Given the description of an element on the screen output the (x, y) to click on. 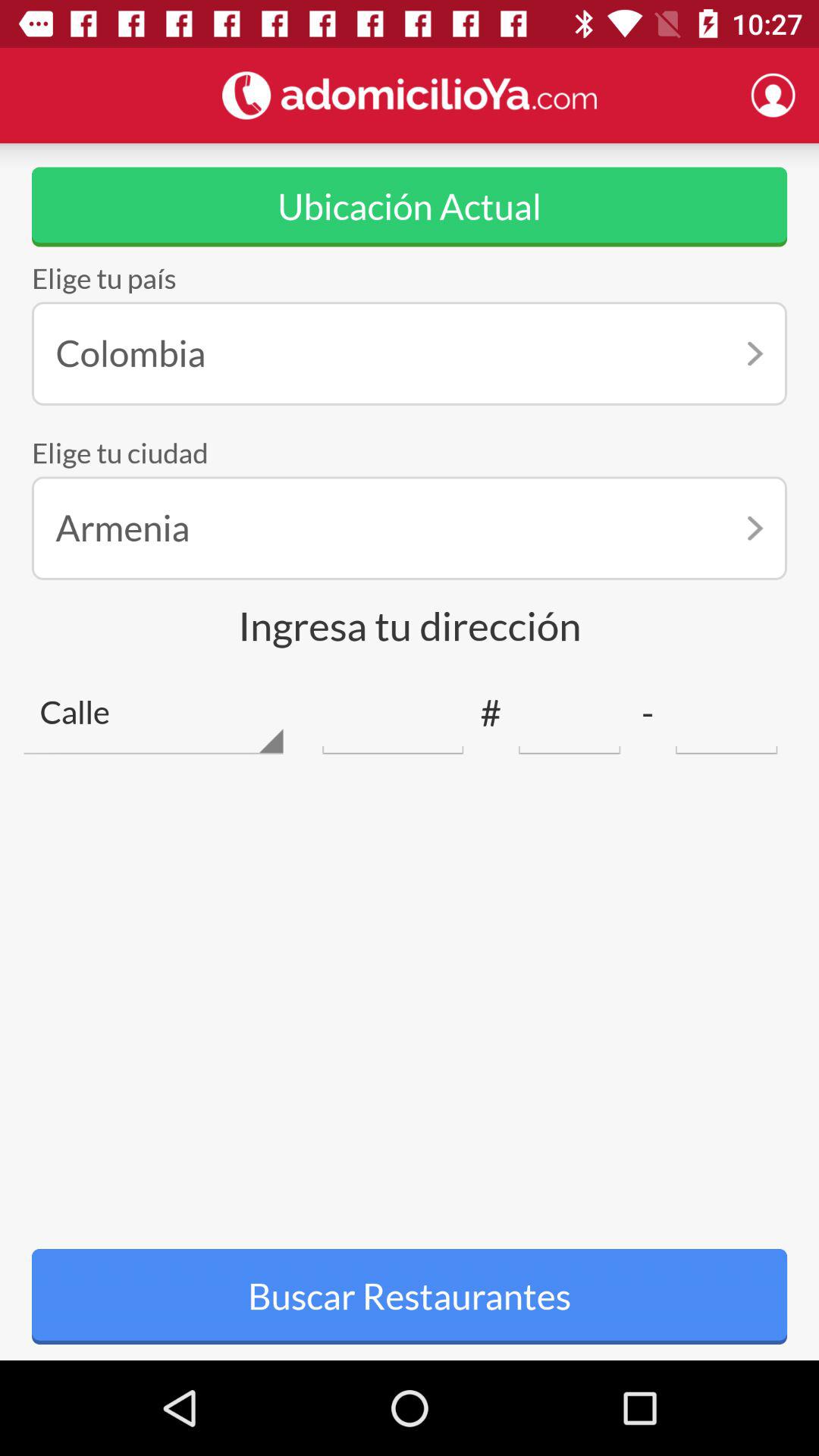
profile create (773, 95)
